Given the description of an element on the screen output the (x, y) to click on. 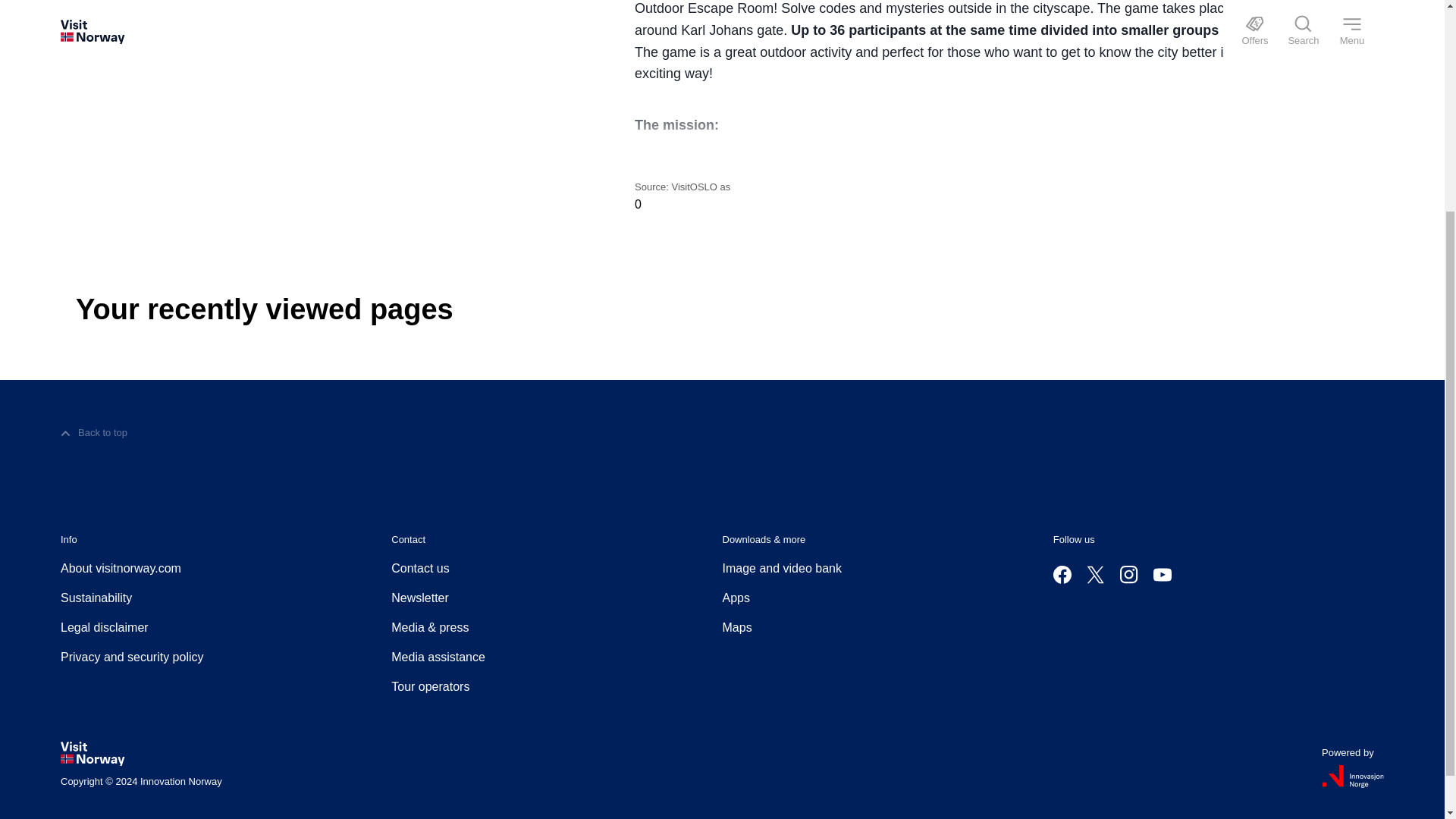
Contact us (419, 568)
Privacy and security policy (132, 657)
Newsletter (419, 597)
Maps (736, 628)
About visitnorway.com (120, 568)
Apps (735, 597)
Image and video bank (781, 568)
Back to top (94, 433)
Tour operators (429, 687)
Legal disclaimer (104, 628)
Sustainability (96, 597)
Media assistance (437, 657)
